Given the description of an element on the screen output the (x, y) to click on. 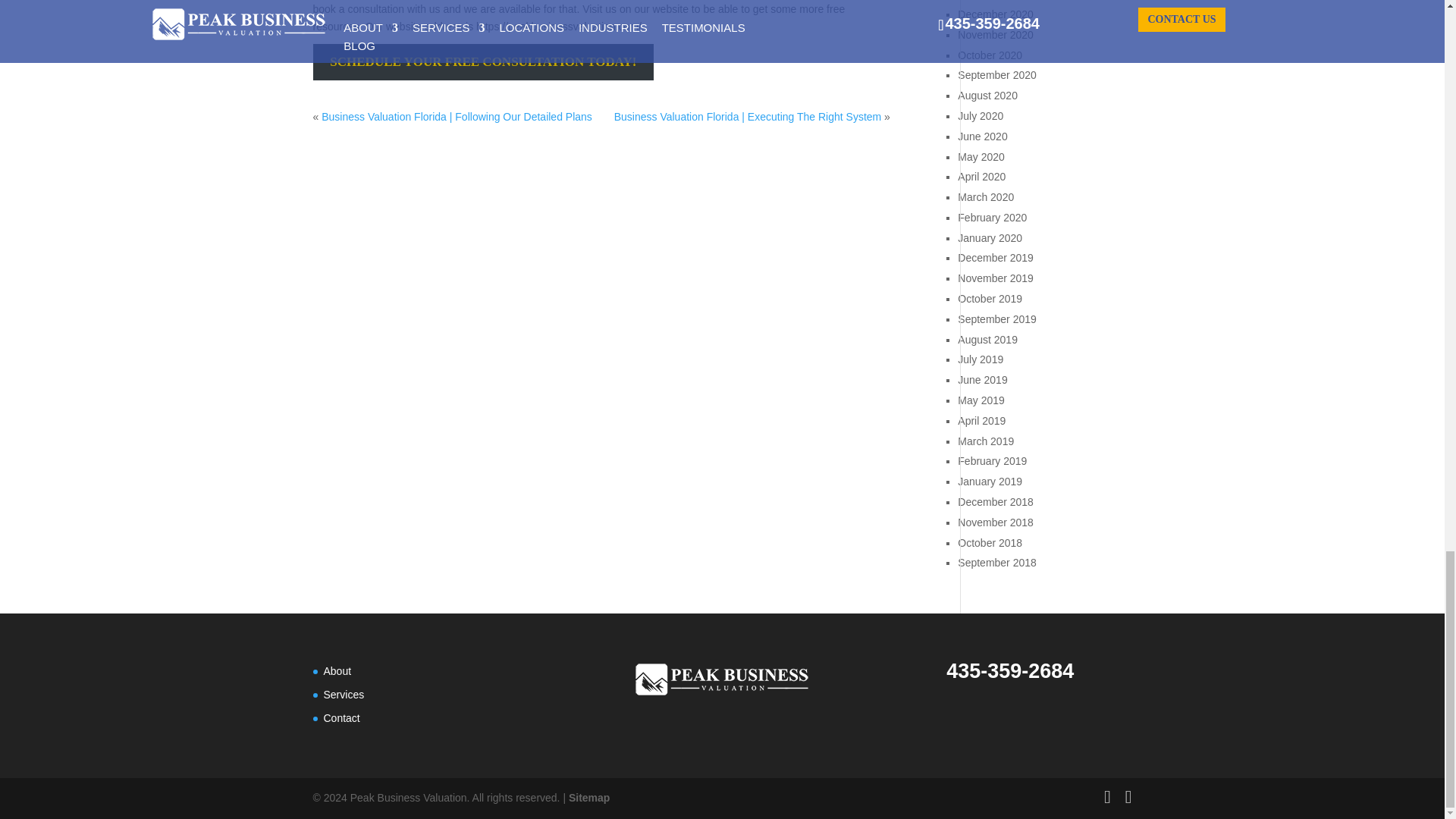
SCHEDULE YOUR FREE CONSULTATION TODAY! (483, 61)
